Given the description of an element on the screen output the (x, y) to click on. 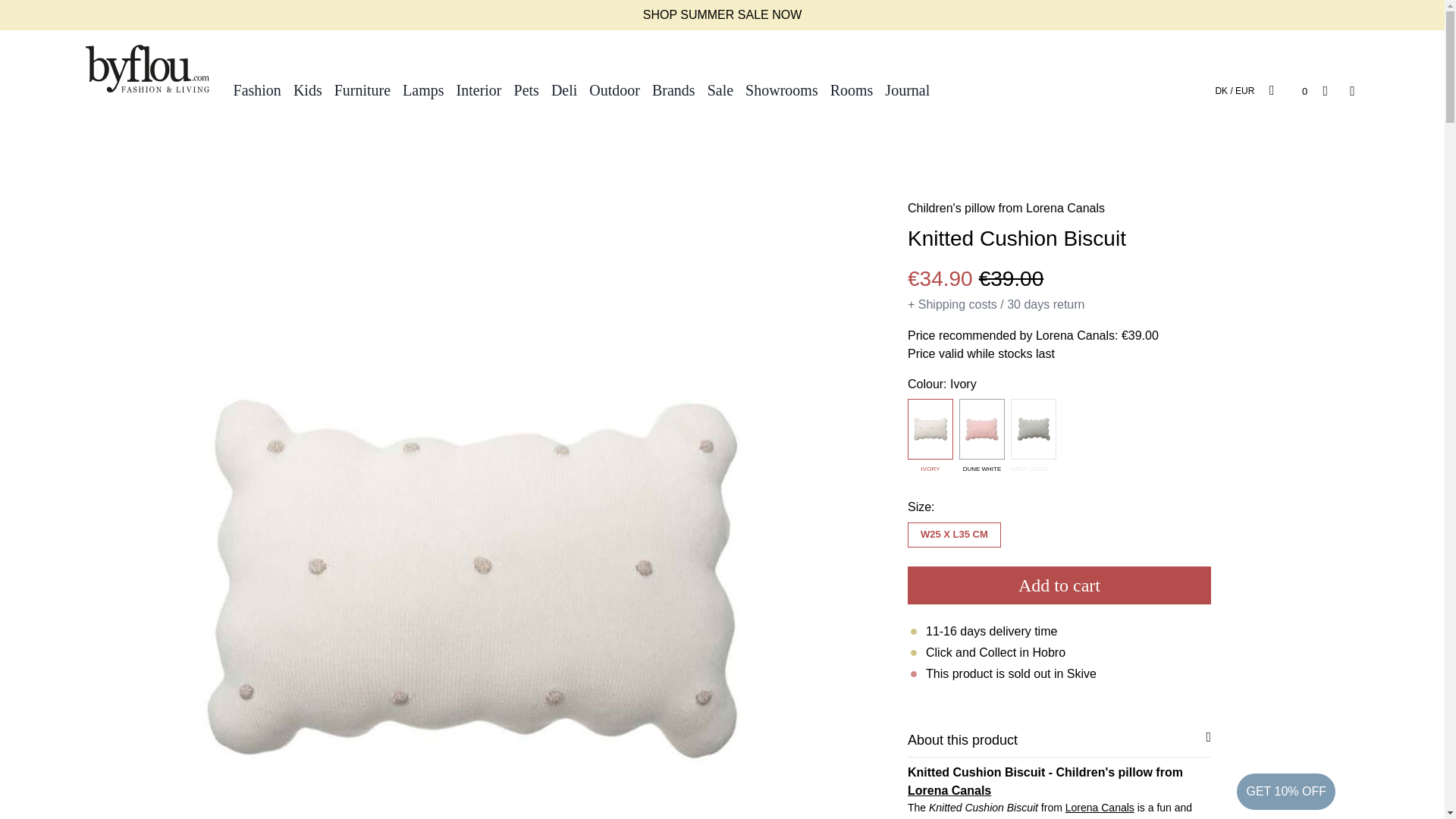
Fashion (256, 89)
Kids (307, 89)
Journal (907, 89)
Lorena Canals (1099, 807)
Rooms (851, 89)
Showrooms (781, 89)
Shipping costs (957, 304)
Lorena Canals (1099, 807)
Brands (673, 89)
0 (1288, 89)
Outdoor (614, 89)
Pets (526, 89)
Lorena Canals (1065, 207)
Deli (563, 89)
Lorena Canals (949, 789)
